Given the description of an element on the screen output the (x, y) to click on. 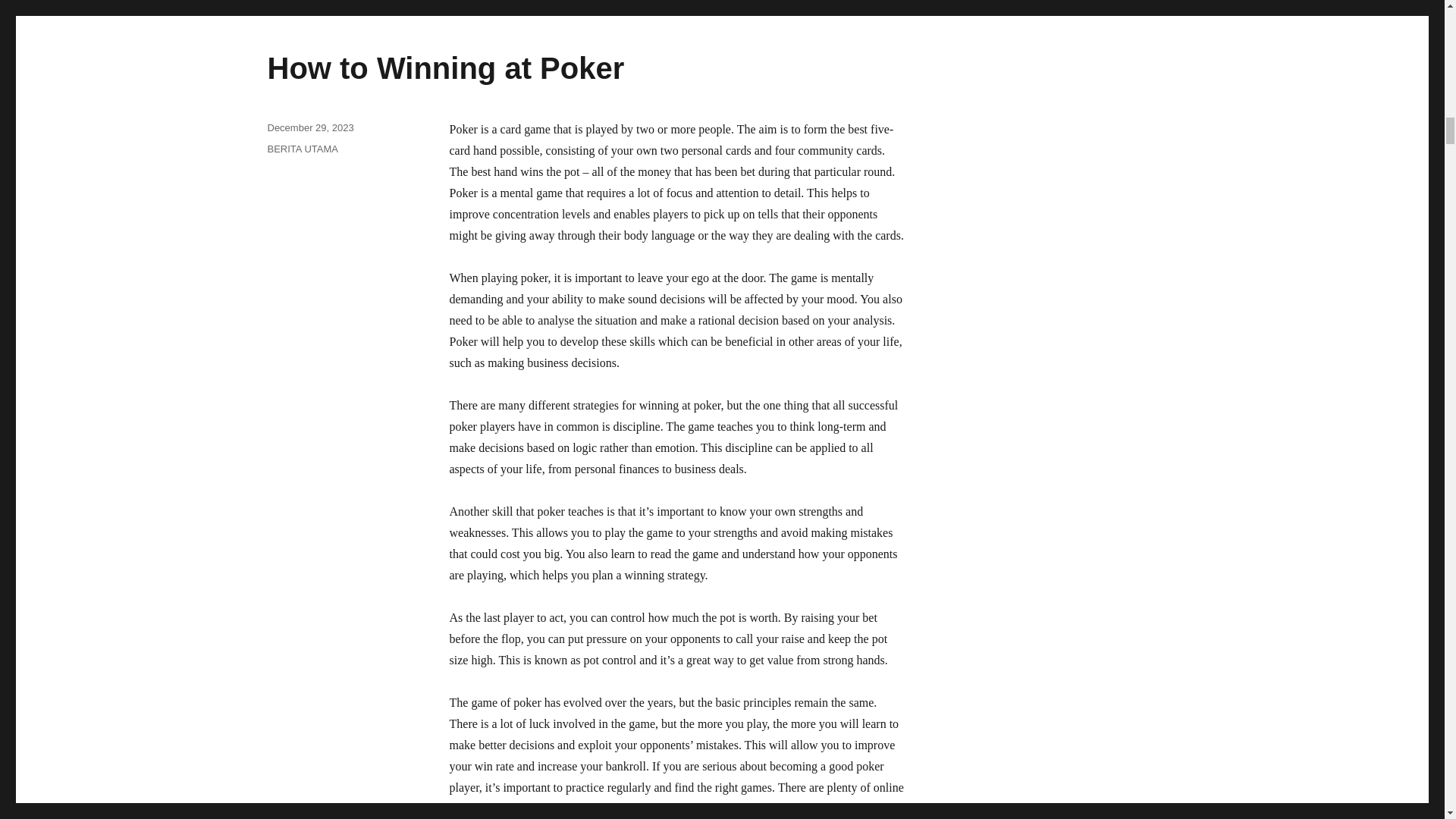
How to Winning at Poker (445, 68)
December 29, 2023 (309, 127)
BERITA UTAMA (301, 148)
